Given the description of an element on the screen output the (x, y) to click on. 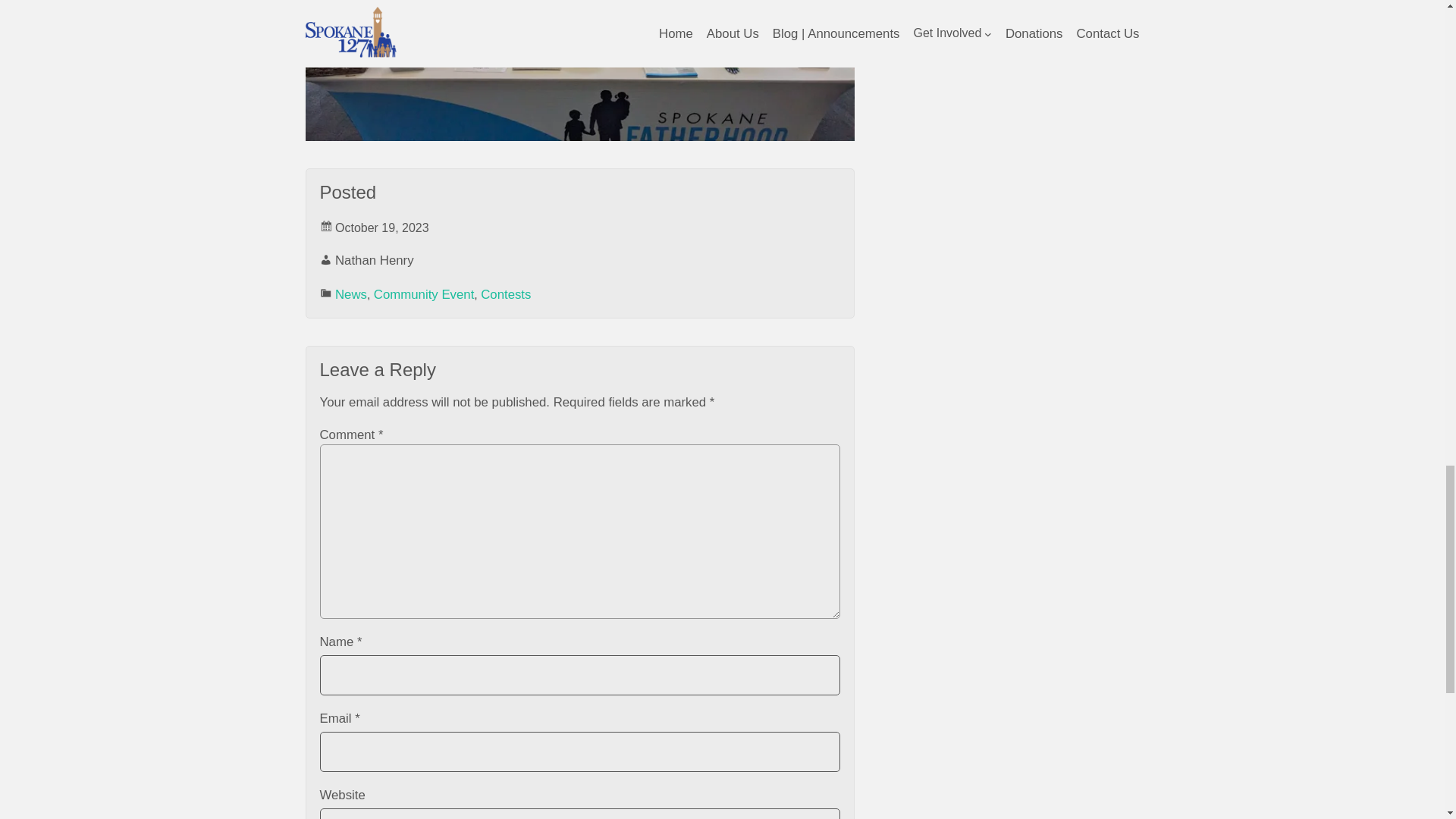
Contests (505, 294)
News (350, 294)
Community Event (424, 294)
